Given the description of an element on the screen output the (x, y) to click on. 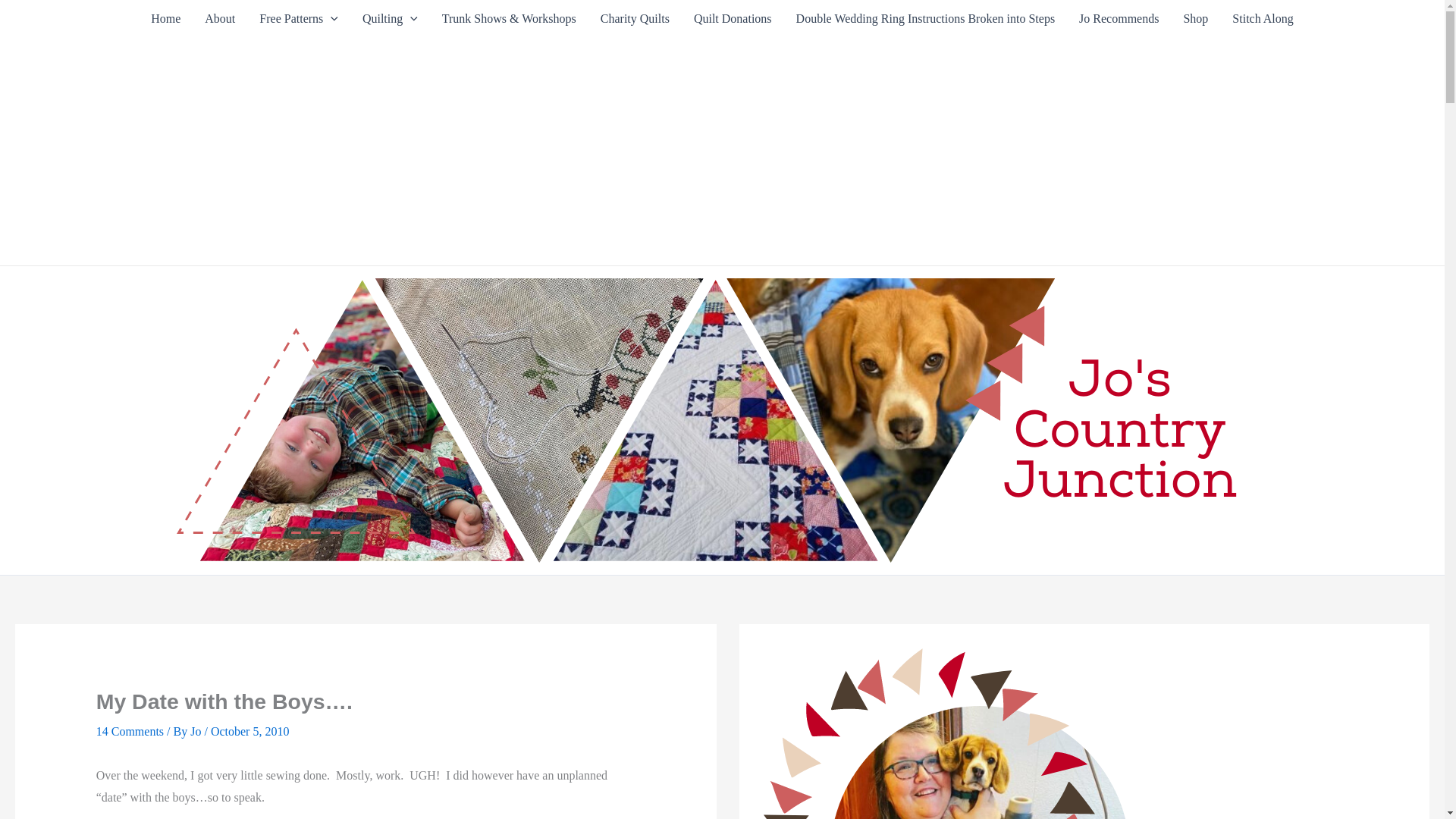
Charity Quilts (634, 18)
Quilt Donations (732, 18)
Quilting (389, 18)
Quilts of 2012 (389, 18)
About (219, 18)
Free Patterns (298, 18)
Home (165, 18)
View all posts by Jo (196, 730)
